Given the description of an element on the screen output the (x, y) to click on. 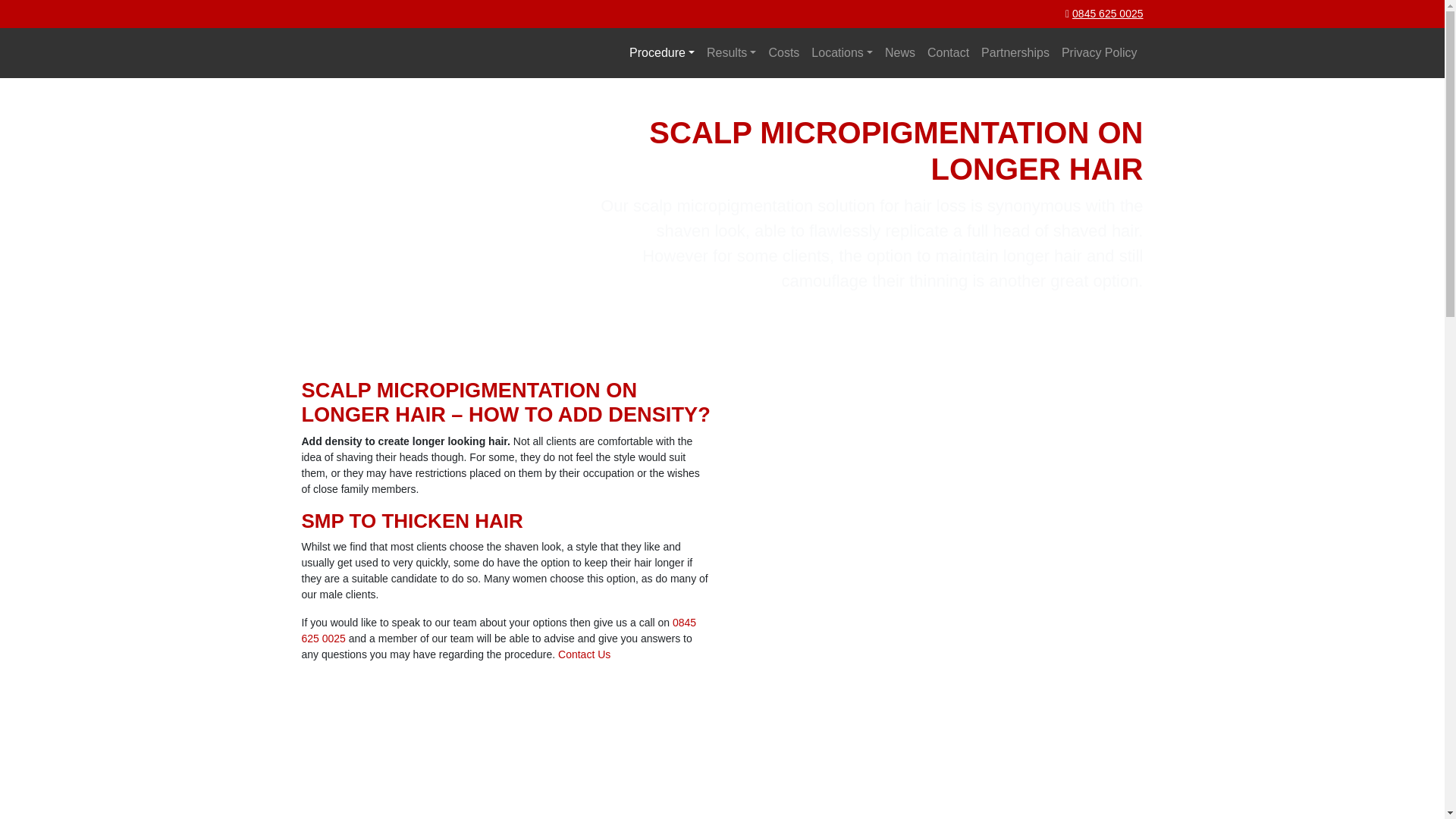
Costs (783, 52)
Results (730, 52)
Procedure (661, 52)
Locations (842, 52)
Costs (783, 52)
Privacy Policy (1098, 52)
Contact Us (583, 654)
Procedure (661, 52)
Results (730, 52)
News (900, 52)
Locations (842, 52)
Contact (948, 52)
Partnerships (1015, 52)
0845 625 0025 (499, 630)
0845 625 0025 (1106, 13)
